Given the description of an element on the screen output the (x, y) to click on. 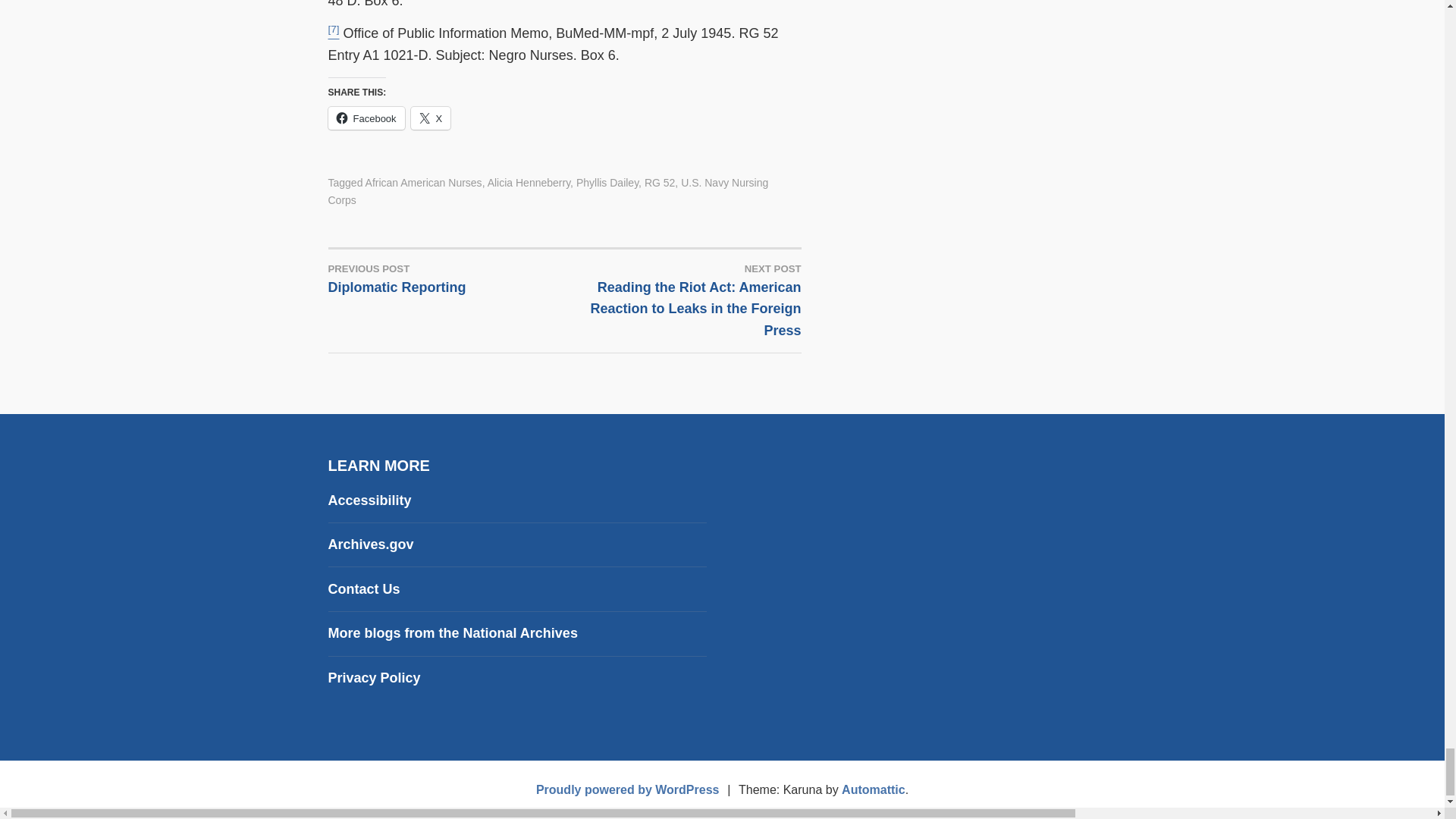
Click to share on Facebook (365, 118)
U.S. National Archives Blogroll (451, 632)
Click to share on X (430, 118)
Contact information (362, 589)
Accessibility information on archives.gov (368, 500)
National Archives privacy policy (373, 677)
